Given the description of an element on the screen output the (x, y) to click on. 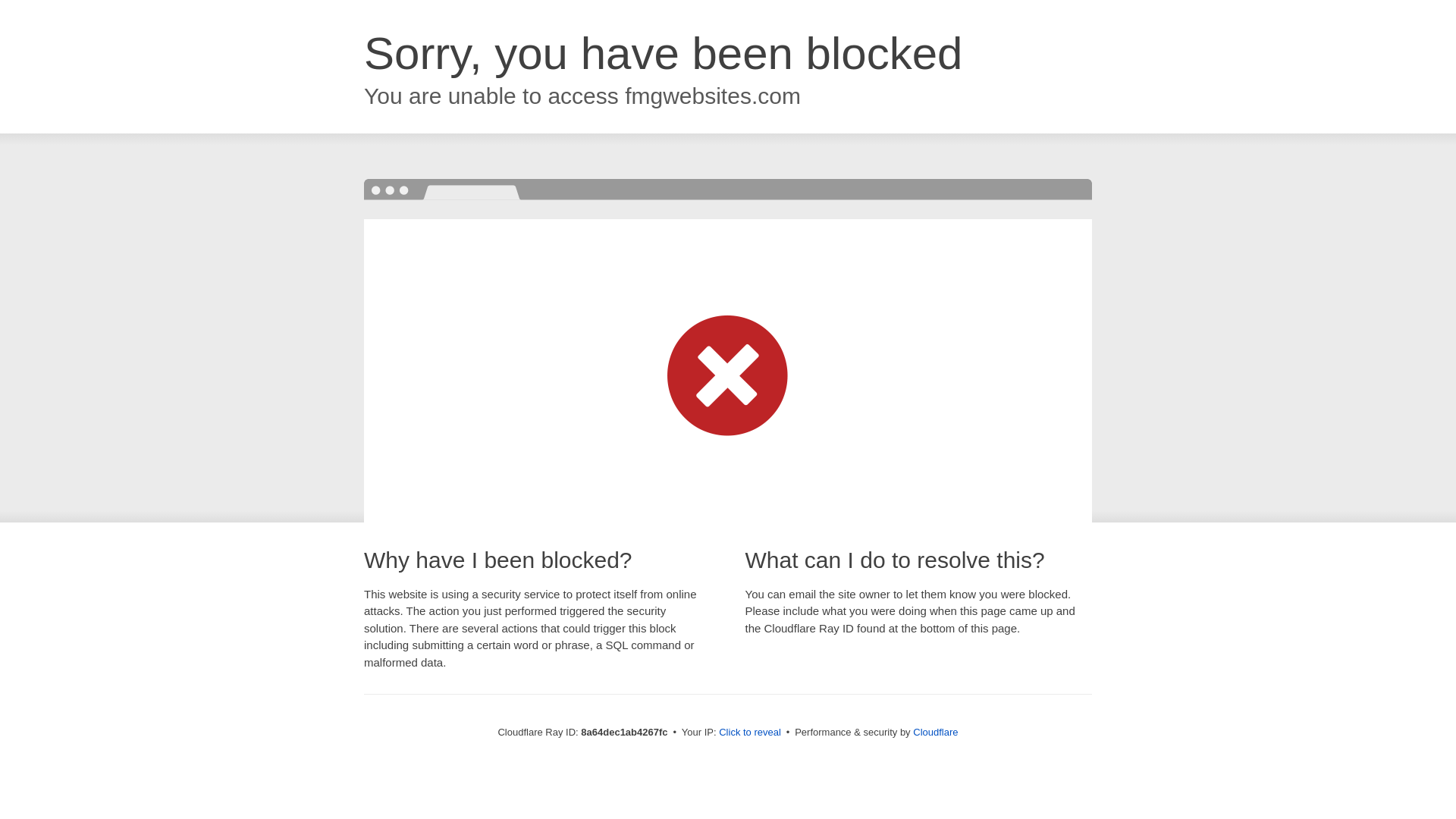
Click to reveal (749, 732)
Cloudflare (935, 731)
